Given the description of an element on the screen output the (x, y) to click on. 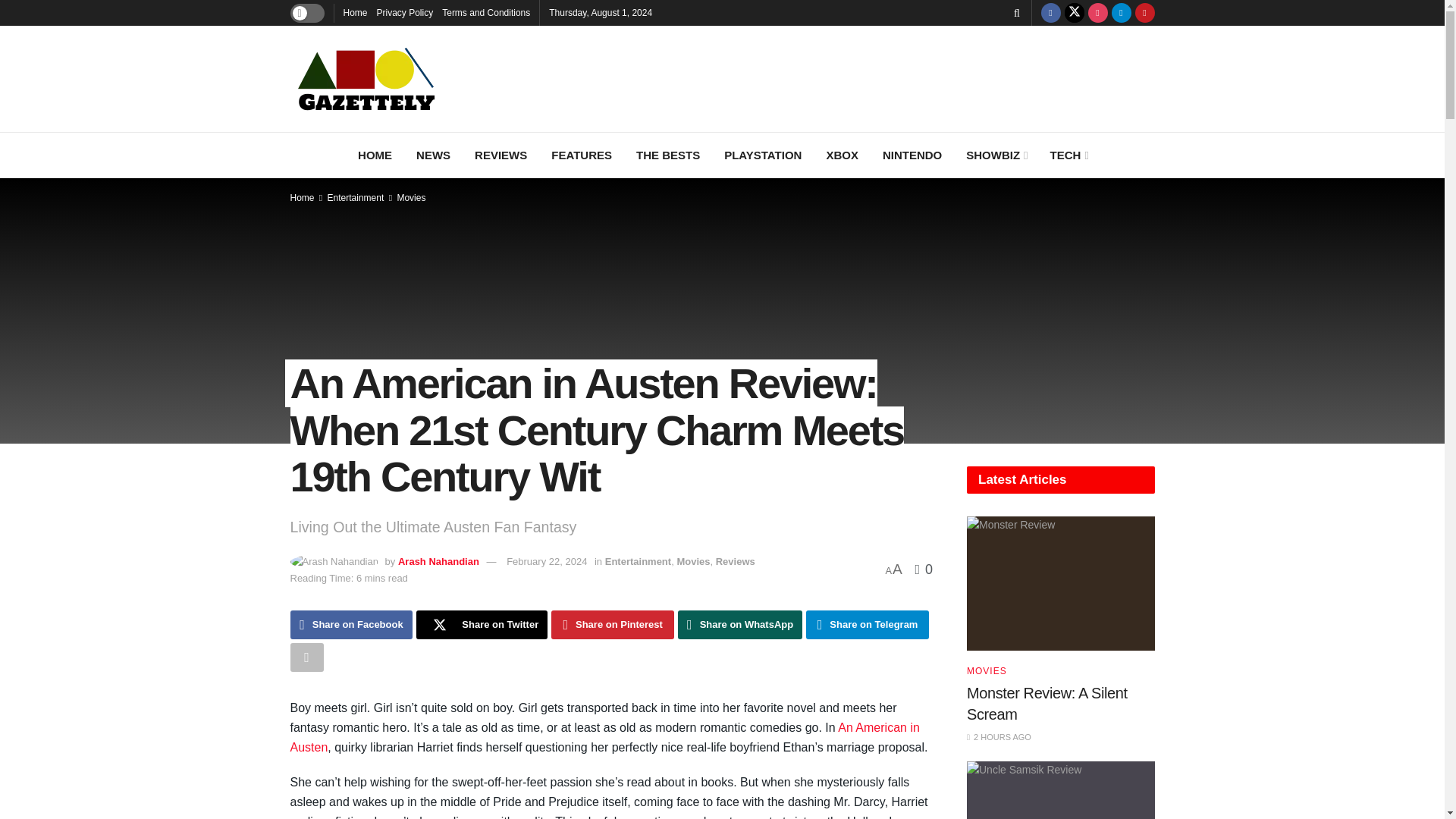
TECH (1068, 154)
XBOX (841, 154)
THE BESTS (667, 154)
NEWS (433, 154)
FEATURES (581, 154)
PLAYSTATION (762, 154)
Home (354, 12)
Terms and Conditions (485, 12)
SHOWBIZ (994, 154)
Privacy Policy (405, 12)
